Given the description of an element on the screen output the (x, y) to click on. 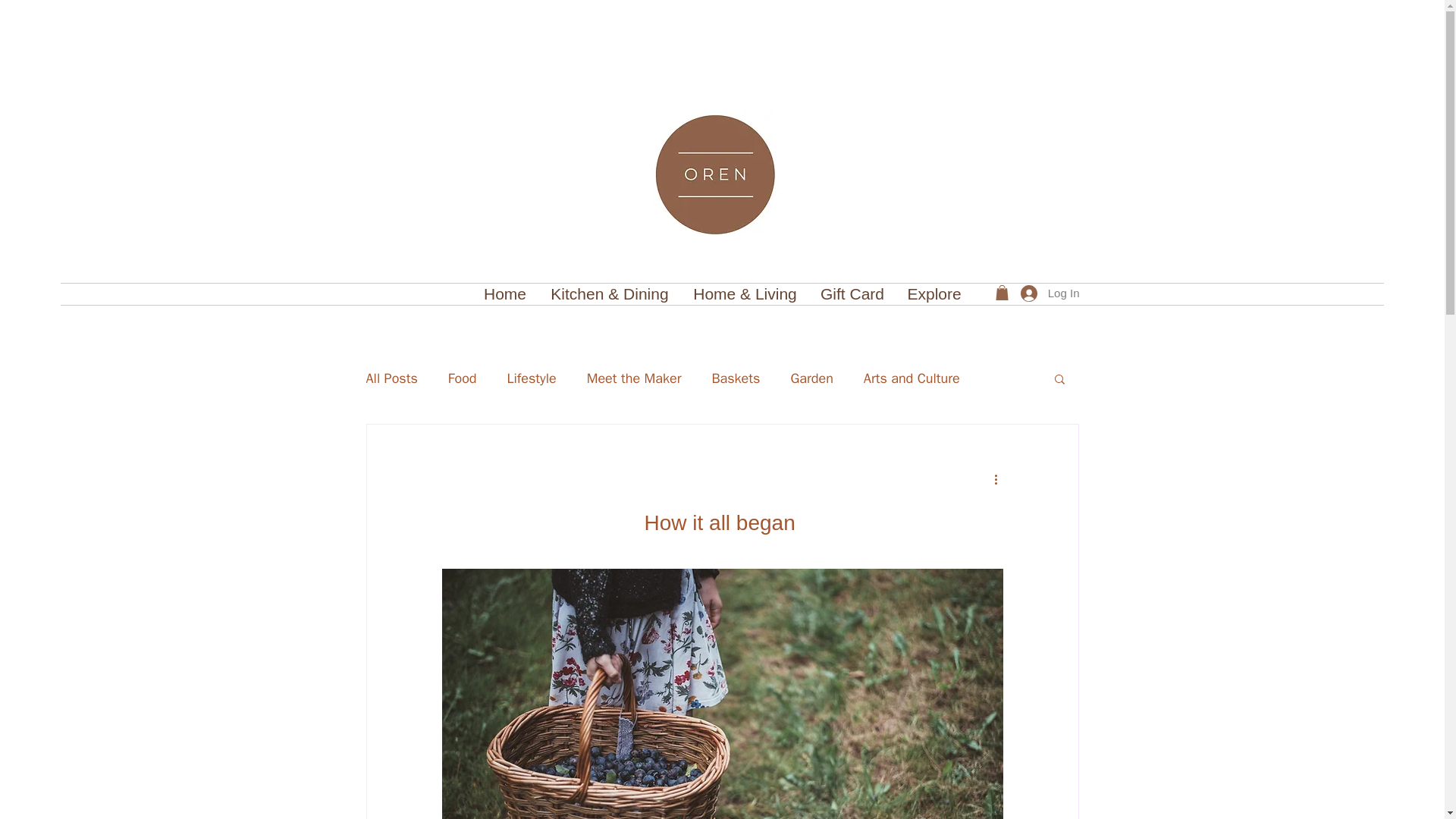
Food (462, 378)
Lifestyle (531, 378)
Garden (811, 378)
Home (504, 293)
Log In (1050, 293)
Gift Card (851, 293)
All Posts (390, 378)
Arts and Culture (911, 378)
Baskets (735, 378)
Meet the Maker (633, 378)
